Given the description of an element on the screen output the (x, y) to click on. 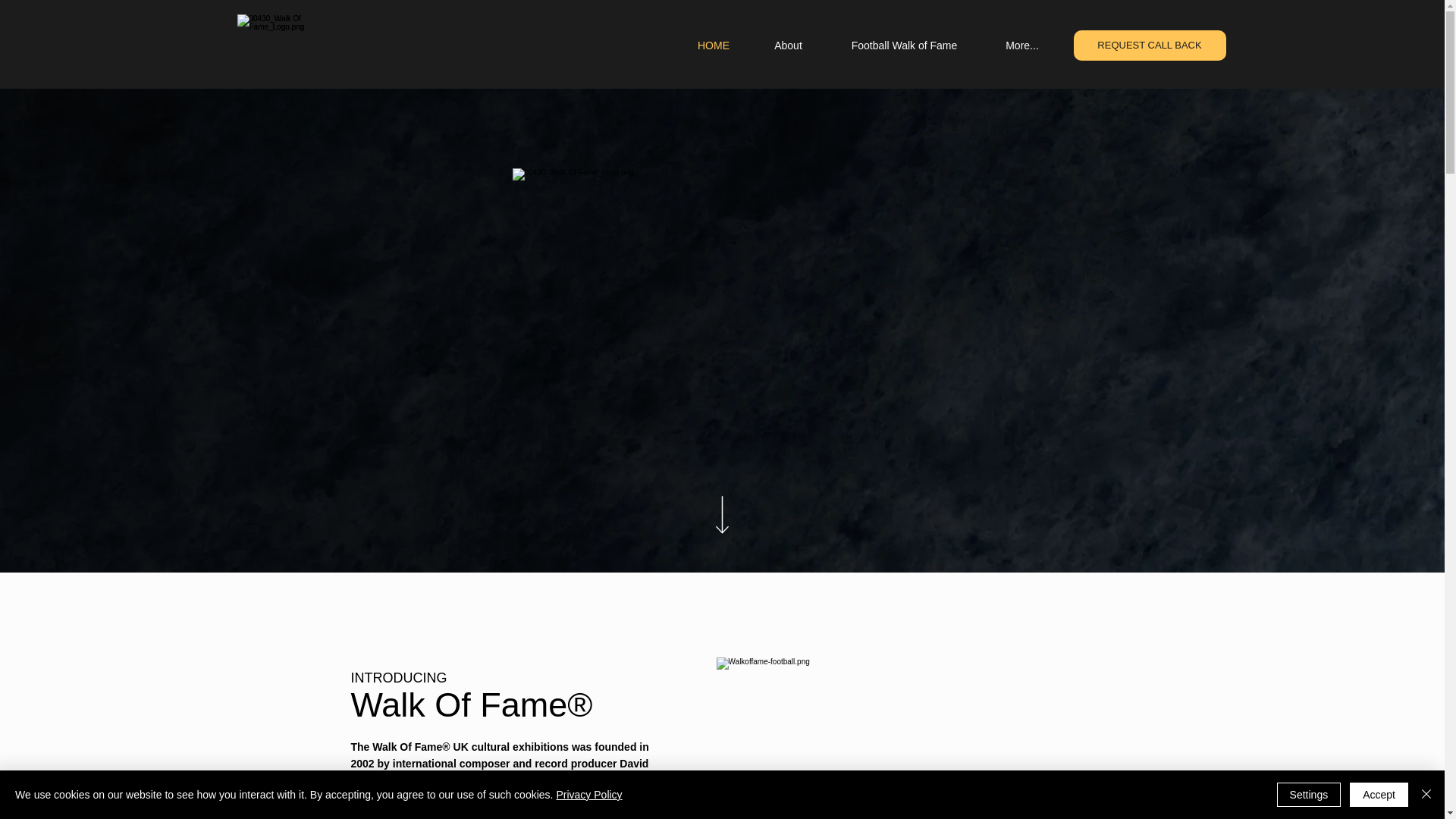
Privacy Policy (588, 794)
Accept (1378, 794)
Settings (1308, 794)
HOME (714, 45)
Football Walk of Fame (903, 45)
REQUEST CALL BACK (1149, 45)
About (788, 45)
